Given the description of an element on the screen output the (x, y) to click on. 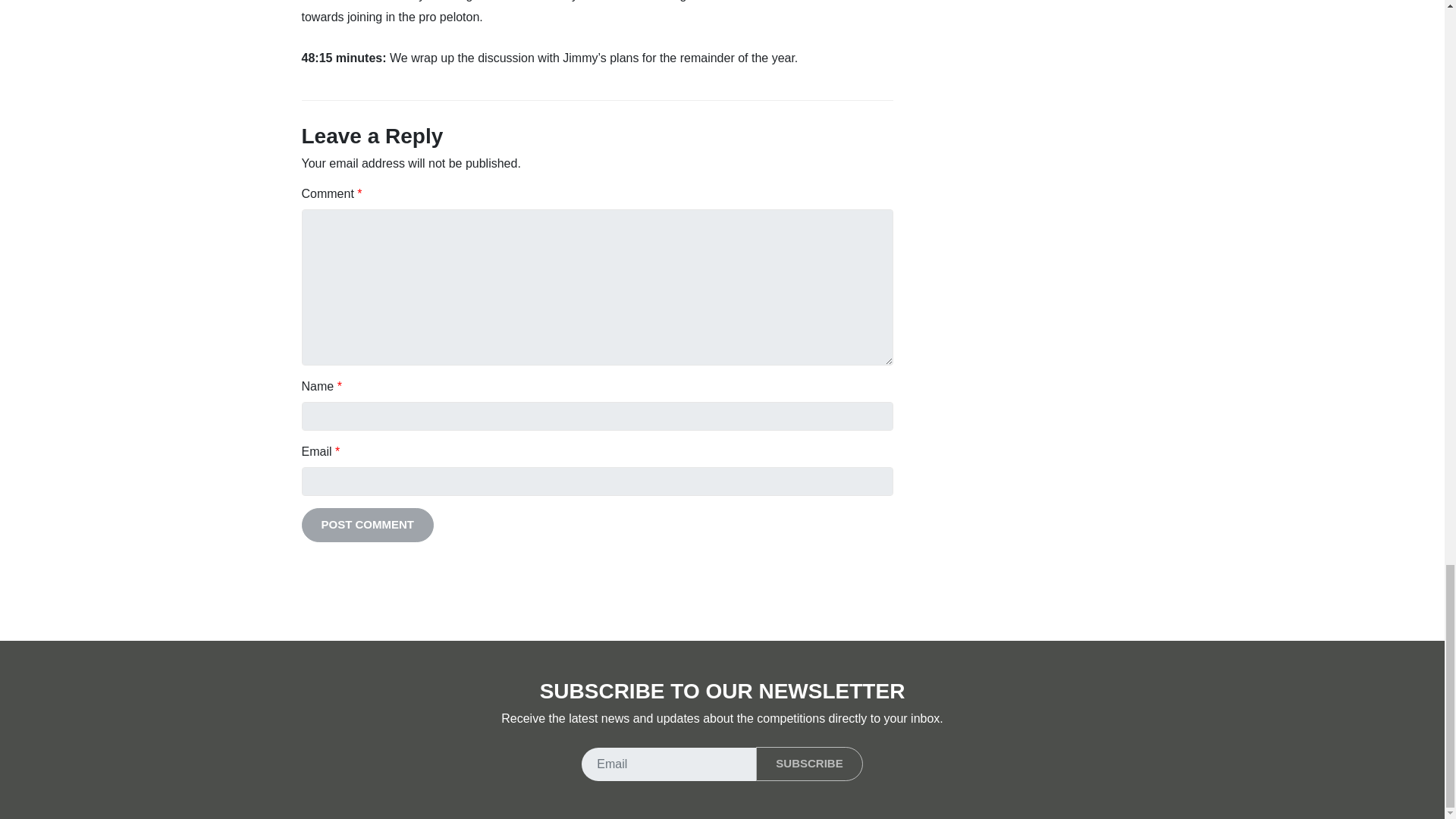
Post Comment (367, 524)
Subscribe (808, 763)
Subscribe (808, 763)
Post Comment (367, 524)
